Given the description of an element on the screen output the (x, y) to click on. 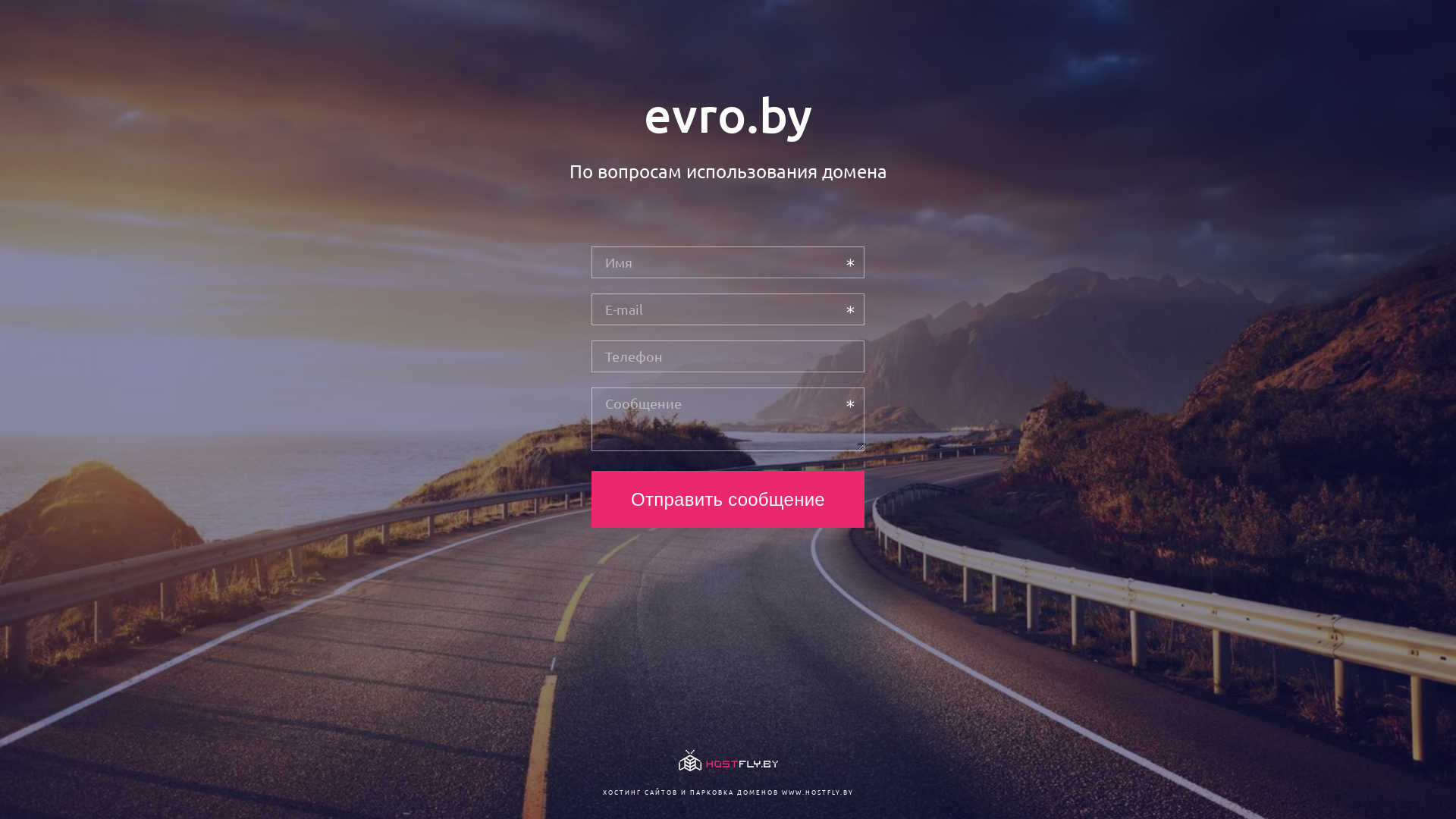
WWW.HOSTFLY.BY Element type: text (817, 791)
